Given the description of an element on the screen output the (x, y) to click on. 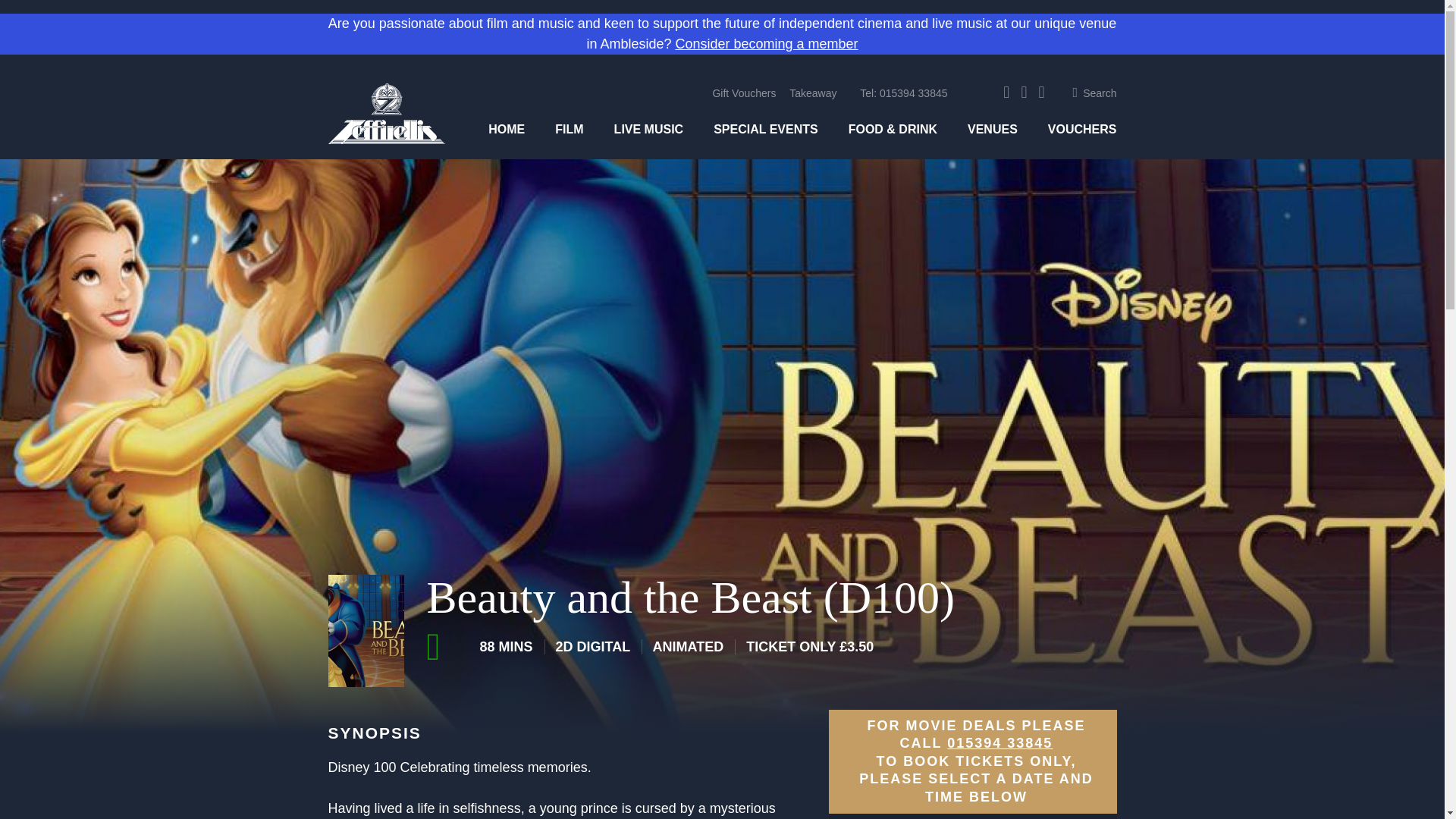
Tel: 015394 33845 (903, 92)
SPECIAL EVENTS (765, 128)
FILM (568, 128)
Takeaway (812, 92)
VOUCHERS (1082, 128)
Consider becoming a member (766, 43)
VENUES (992, 128)
HOME (505, 128)
LIVE MUSIC (649, 128)
Gift Vouchers (743, 92)
